Given the description of an element on the screen output the (x, y) to click on. 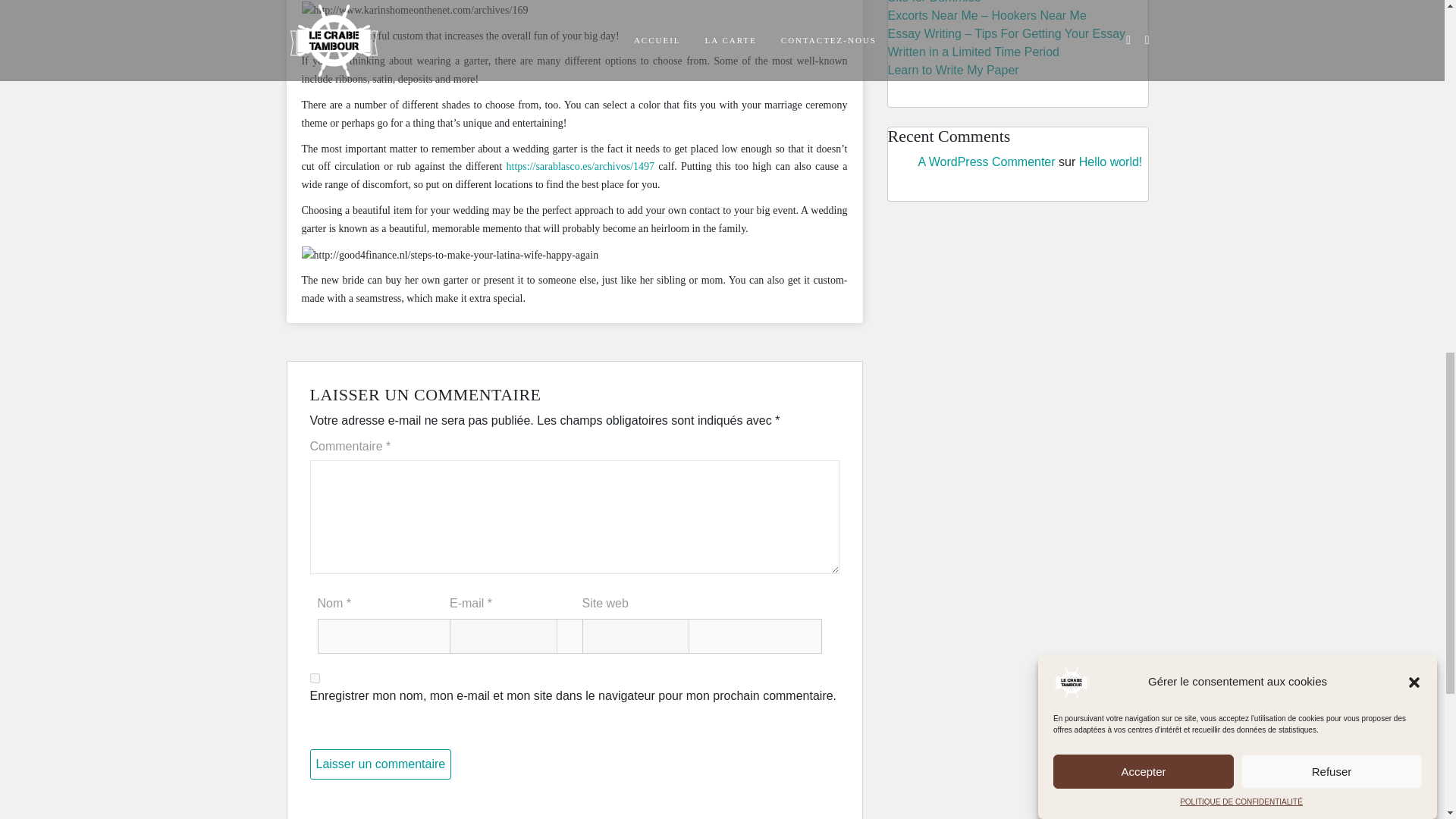
A WordPress Commenter (985, 161)
Hello world! (1110, 161)
Accepter (1142, 125)
Refuser (1331, 92)
Learn to Write My Paper (951, 69)
Laisser un commentaire (379, 764)
Laisser un commentaire (379, 764)
yes (313, 678)
